Given the description of an element on the screen output the (x, y) to click on. 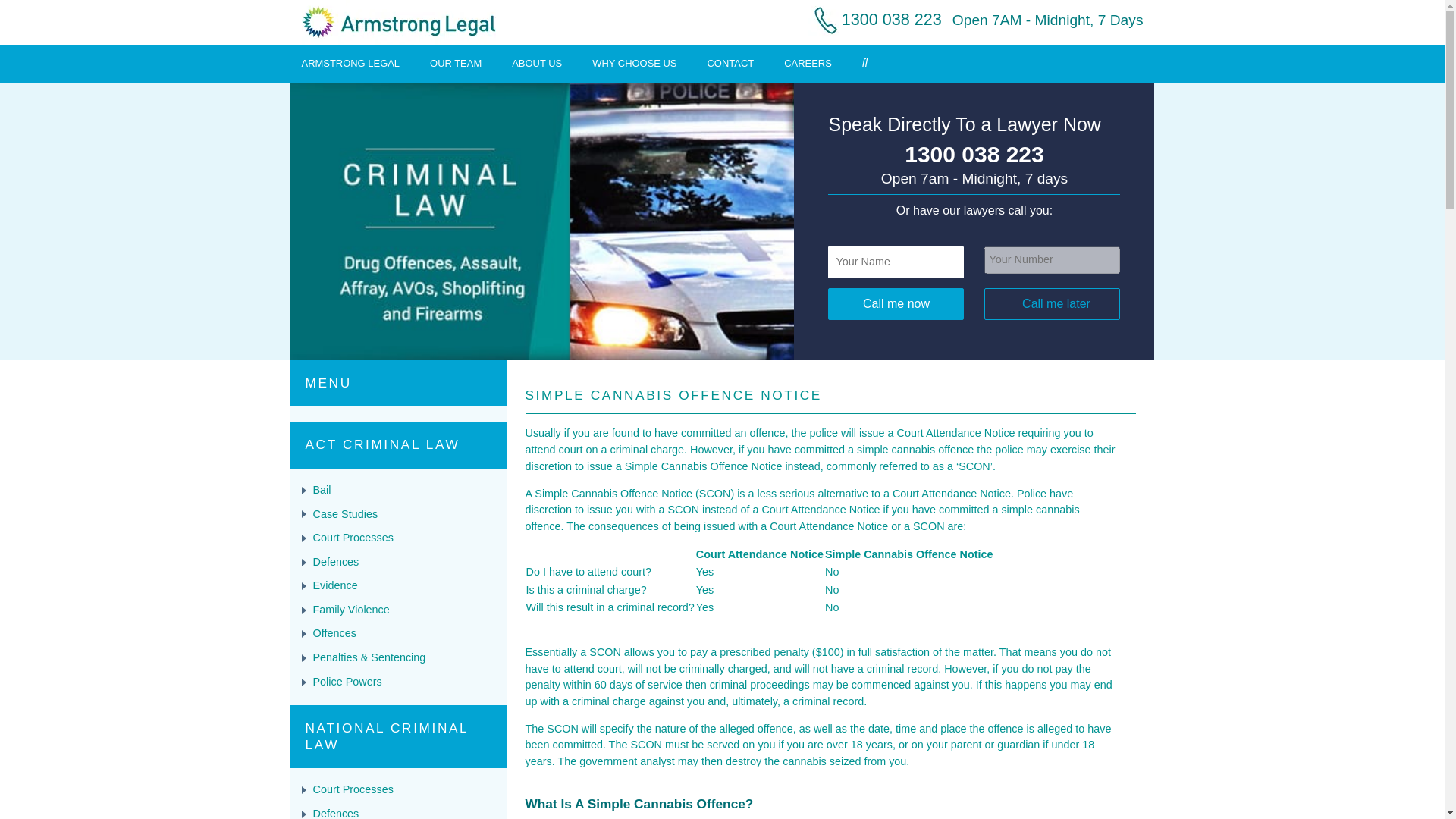
OUR TEAM (455, 62)
Call me now (895, 304)
Call me later (1051, 304)
Call me now (895, 304)
CAREERS (807, 62)
Court Processes (353, 537)
ARMSTRONG LEGAL (350, 62)
1300 038 223 (973, 154)
Case Studies (345, 513)
ABOUT US (537, 62)
